Given the description of an element on the screen output the (x, y) to click on. 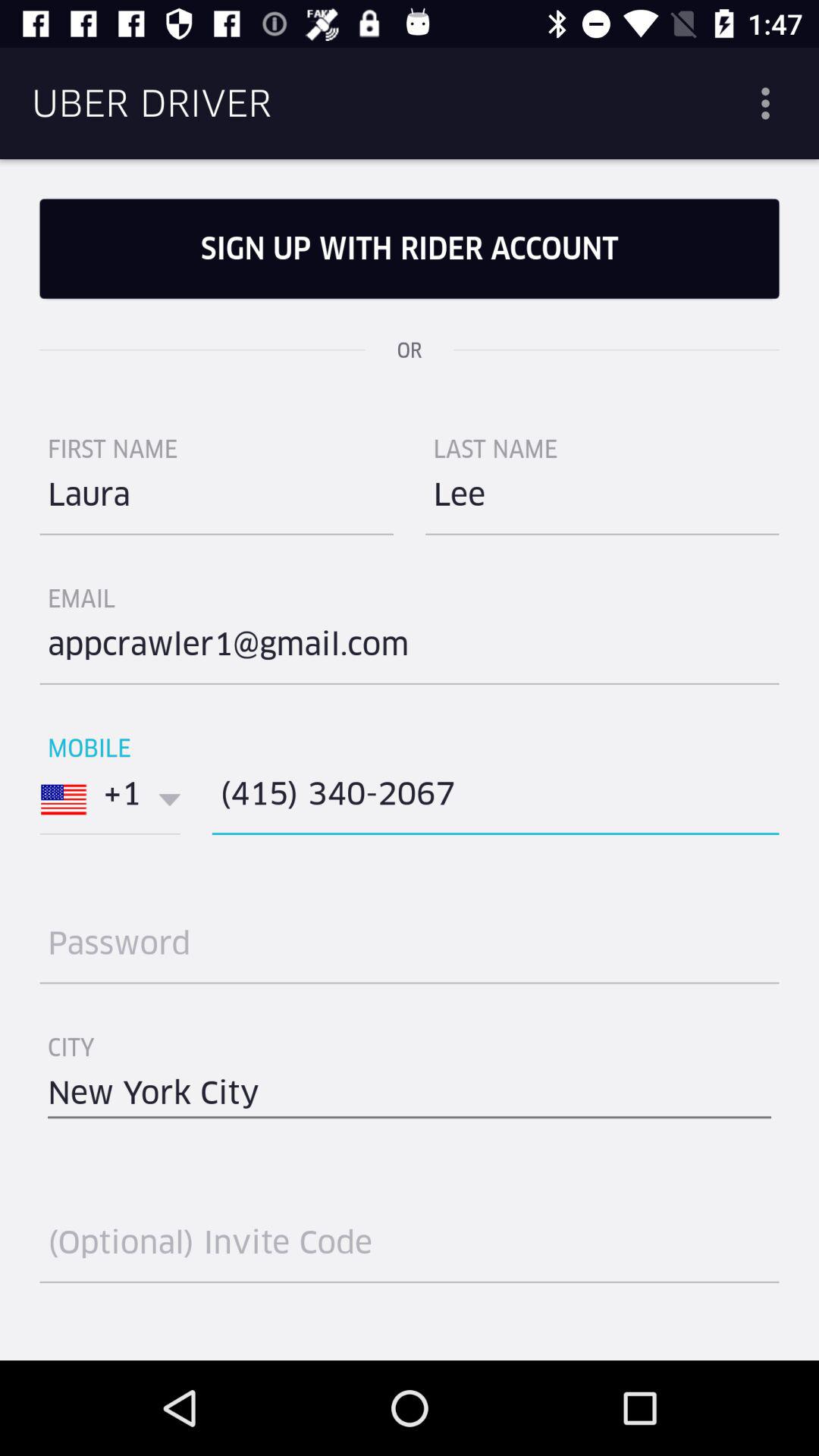
swipe to lee (602, 500)
